Given the description of an element on the screen output the (x, y) to click on. 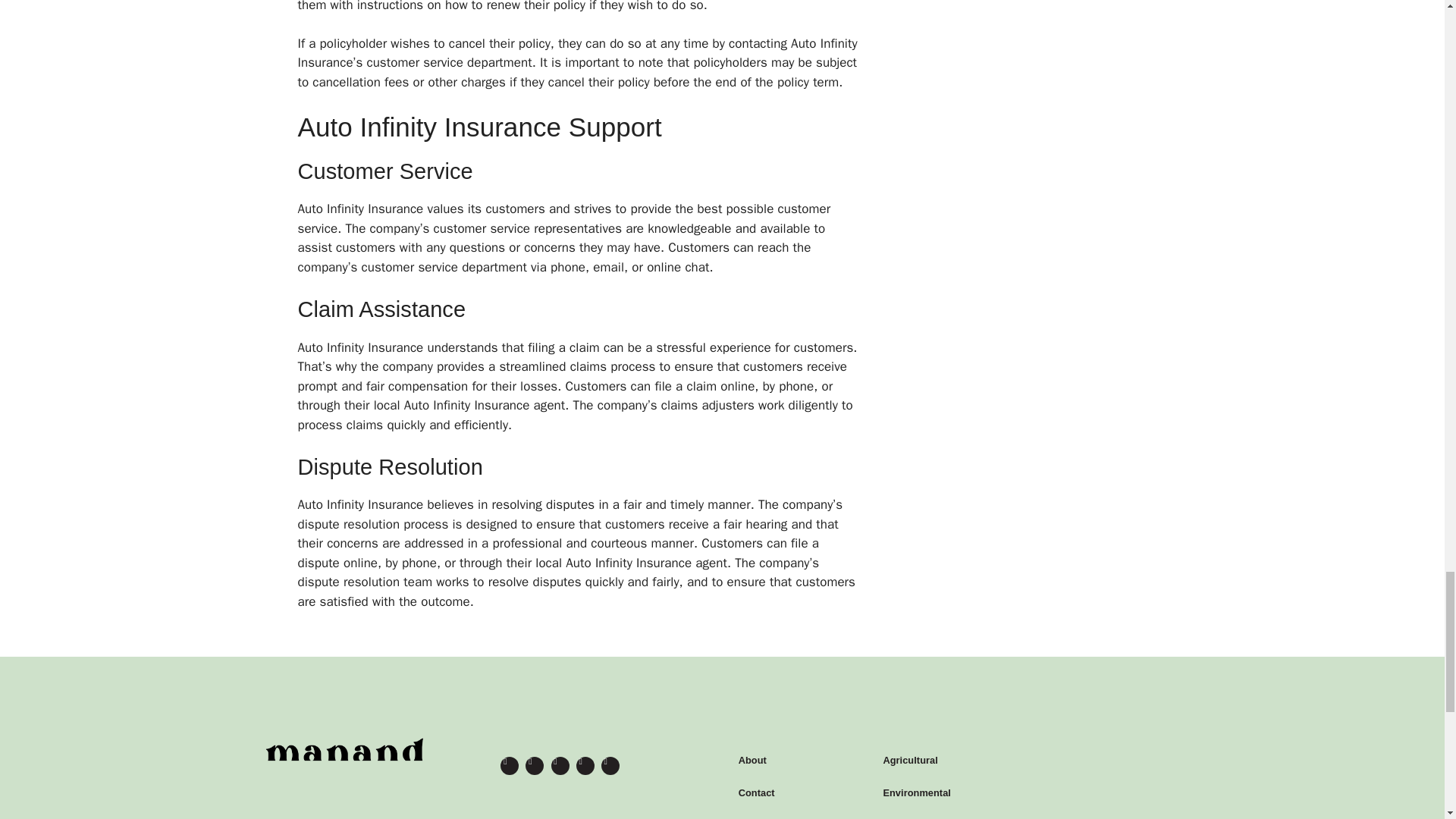
About (796, 760)
Disclaimer (796, 814)
Environmental (992, 793)
Contact (796, 793)
Agricultural (992, 760)
